Given the description of an element on the screen output the (x, y) to click on. 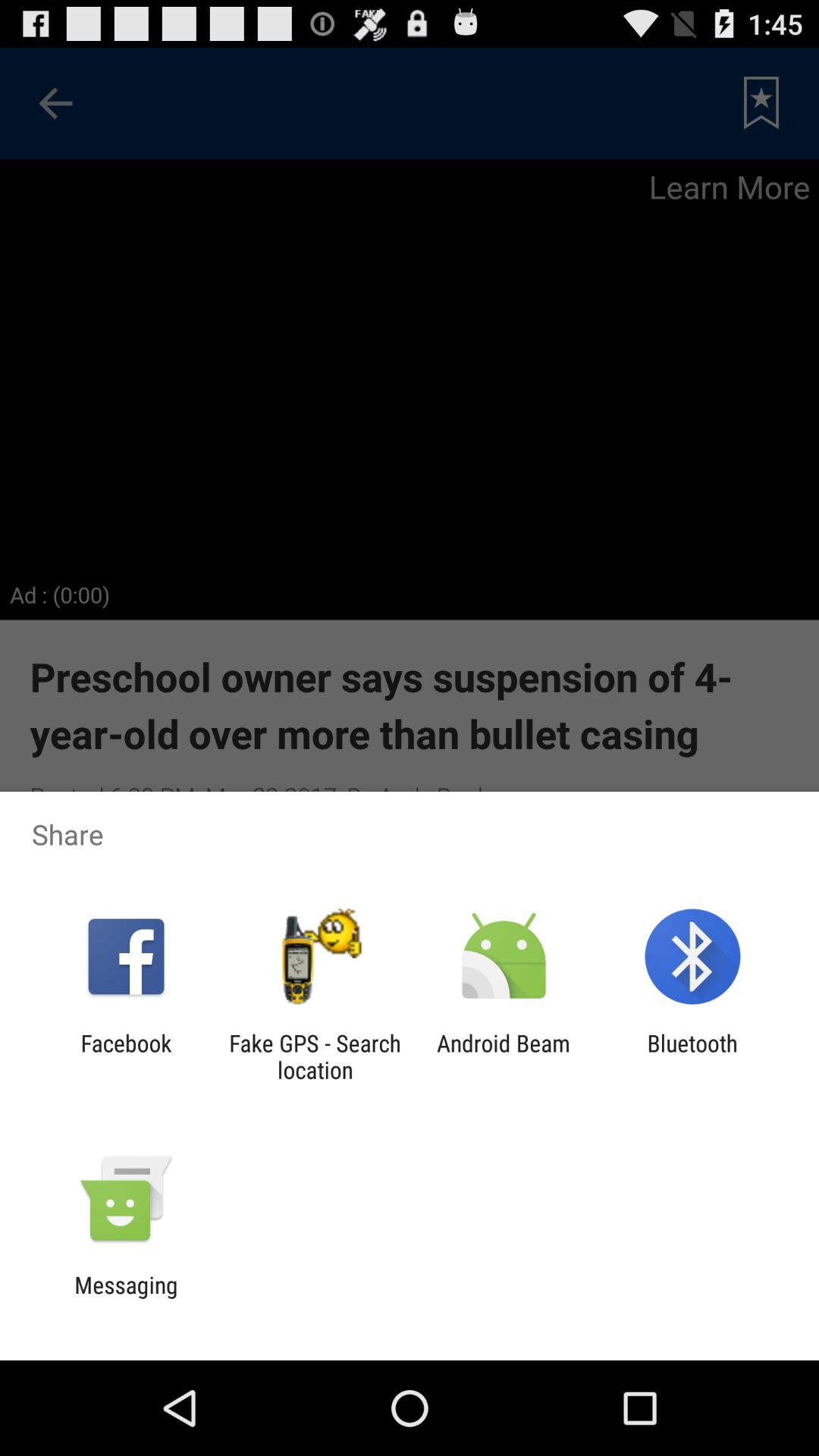
launch the icon to the right of the android beam (692, 1056)
